Given the description of an element on the screen output the (x, y) to click on. 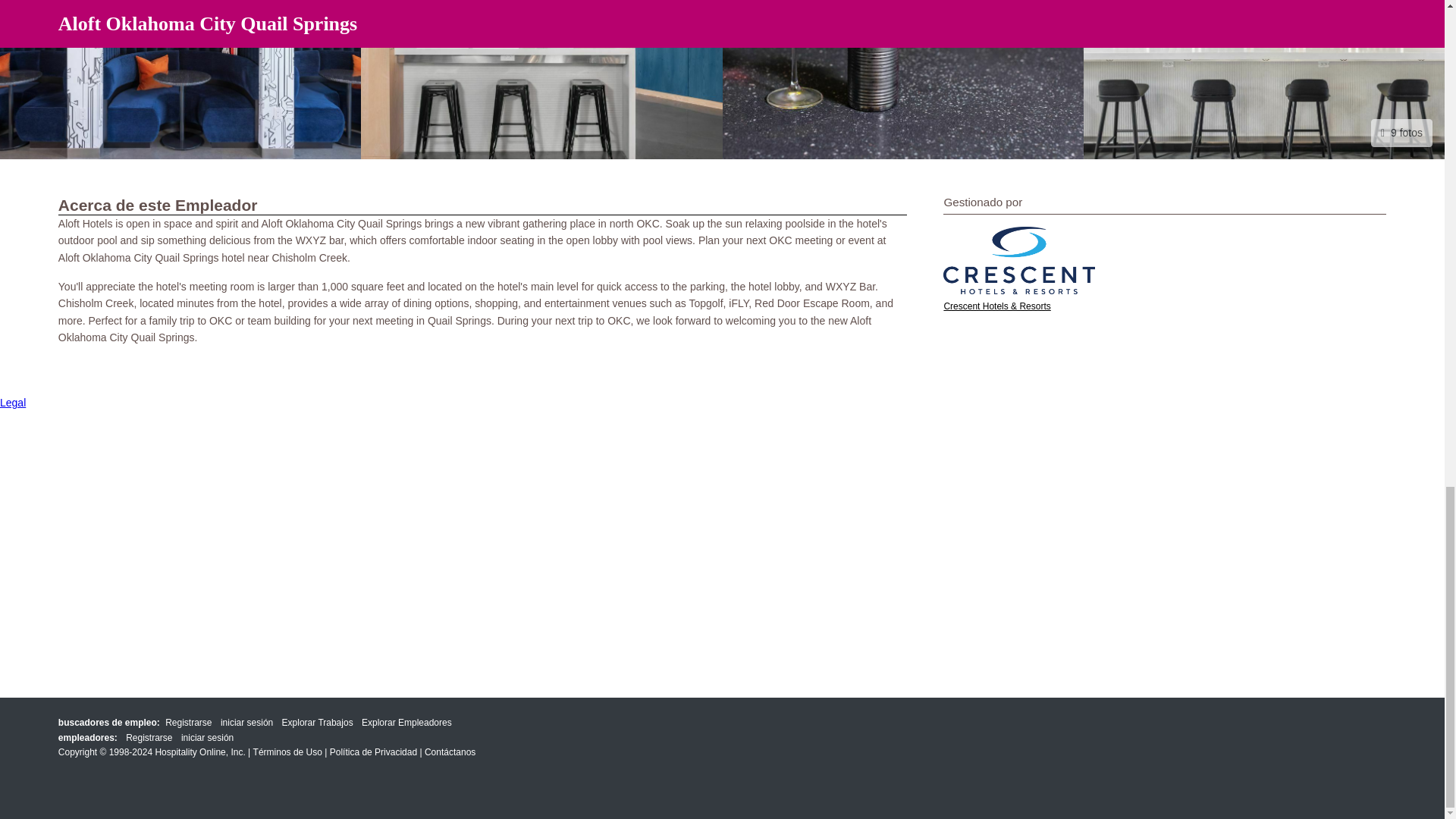
Registrarse (148, 738)
Registrarse (188, 722)
Explorar Trabajos (317, 722)
 9 fotos (1401, 132)
Explorar Empleadores (406, 722)
